Given the description of an element on the screen output the (x, y) to click on. 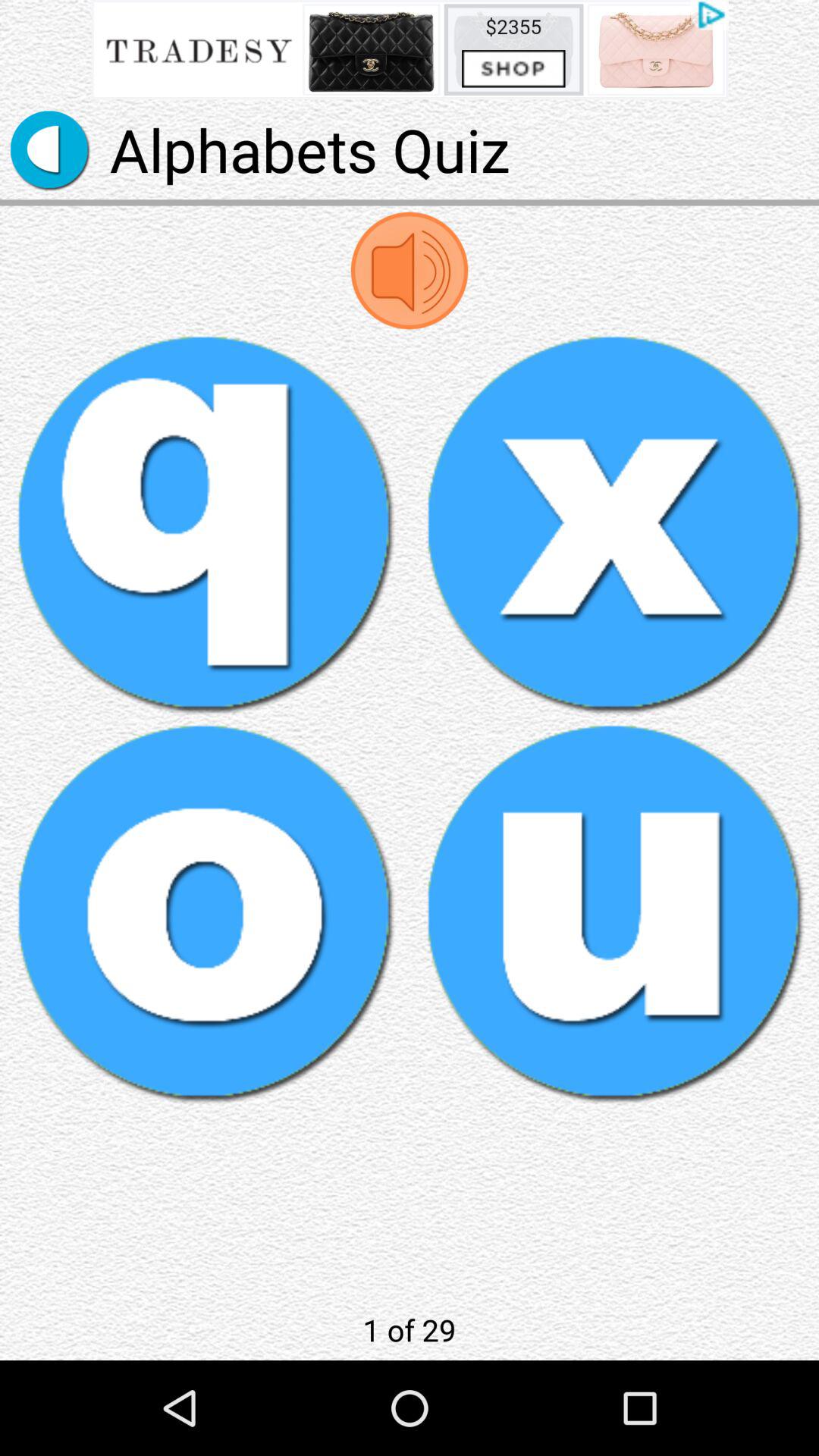
select q option (204, 523)
